Given the description of an element on the screen output the (x, y) to click on. 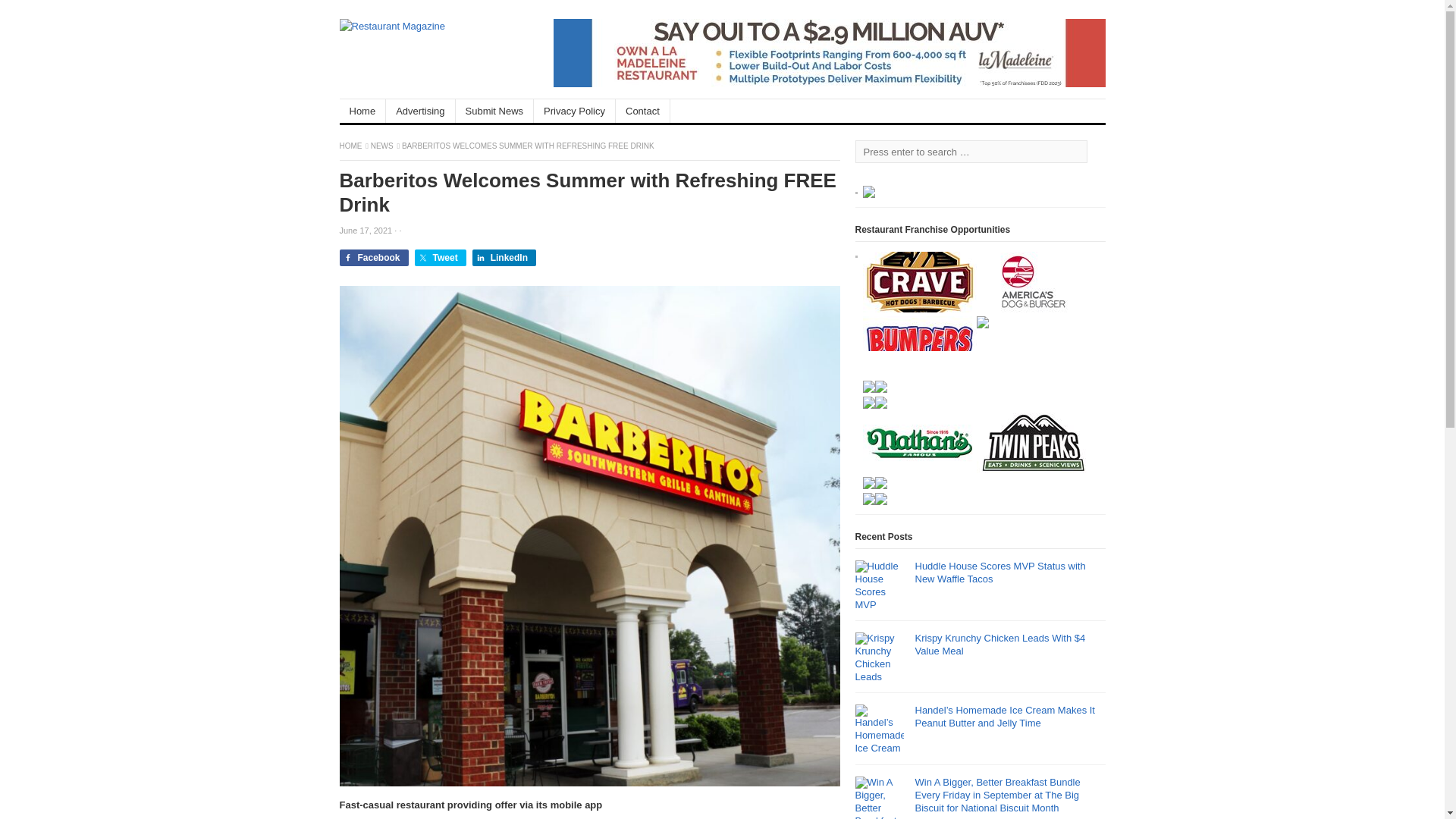
Contact (642, 110)
Advertising (419, 110)
la Madeleine (829, 83)
Facebook (374, 257)
Home (363, 110)
Share on LinkedIn (503, 257)
Tweet (439, 257)
Privacy Policy (574, 110)
Share on Facebook (374, 257)
